Given the description of an element on the screen output the (x, y) to click on. 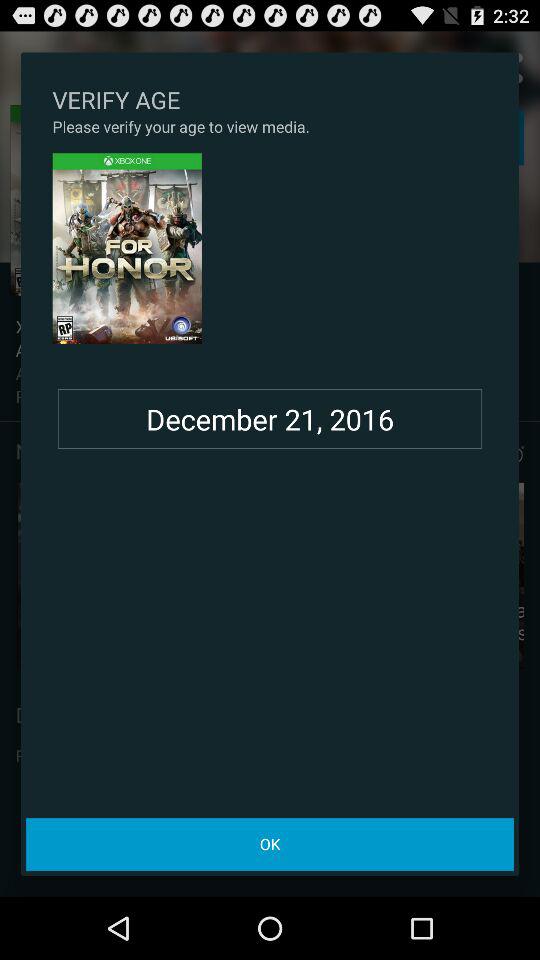
press icon above the ok item (269, 419)
